Given the description of an element on the screen output the (x, y) to click on. 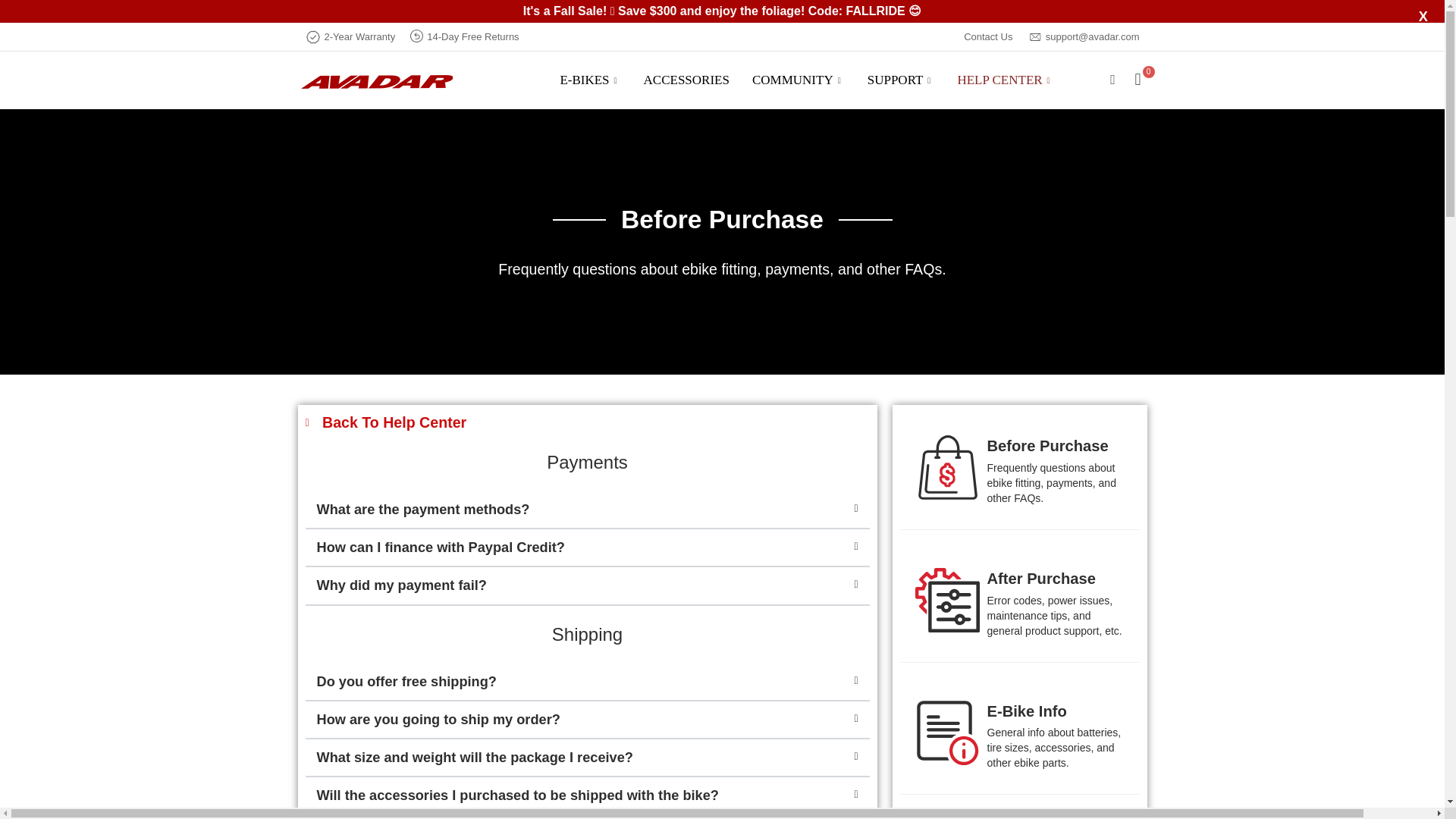
E-BIKES (589, 80)
COMMUNITY (798, 80)
ACCESSORIES (686, 80)
